Given the description of an element on the screen output the (x, y) to click on. 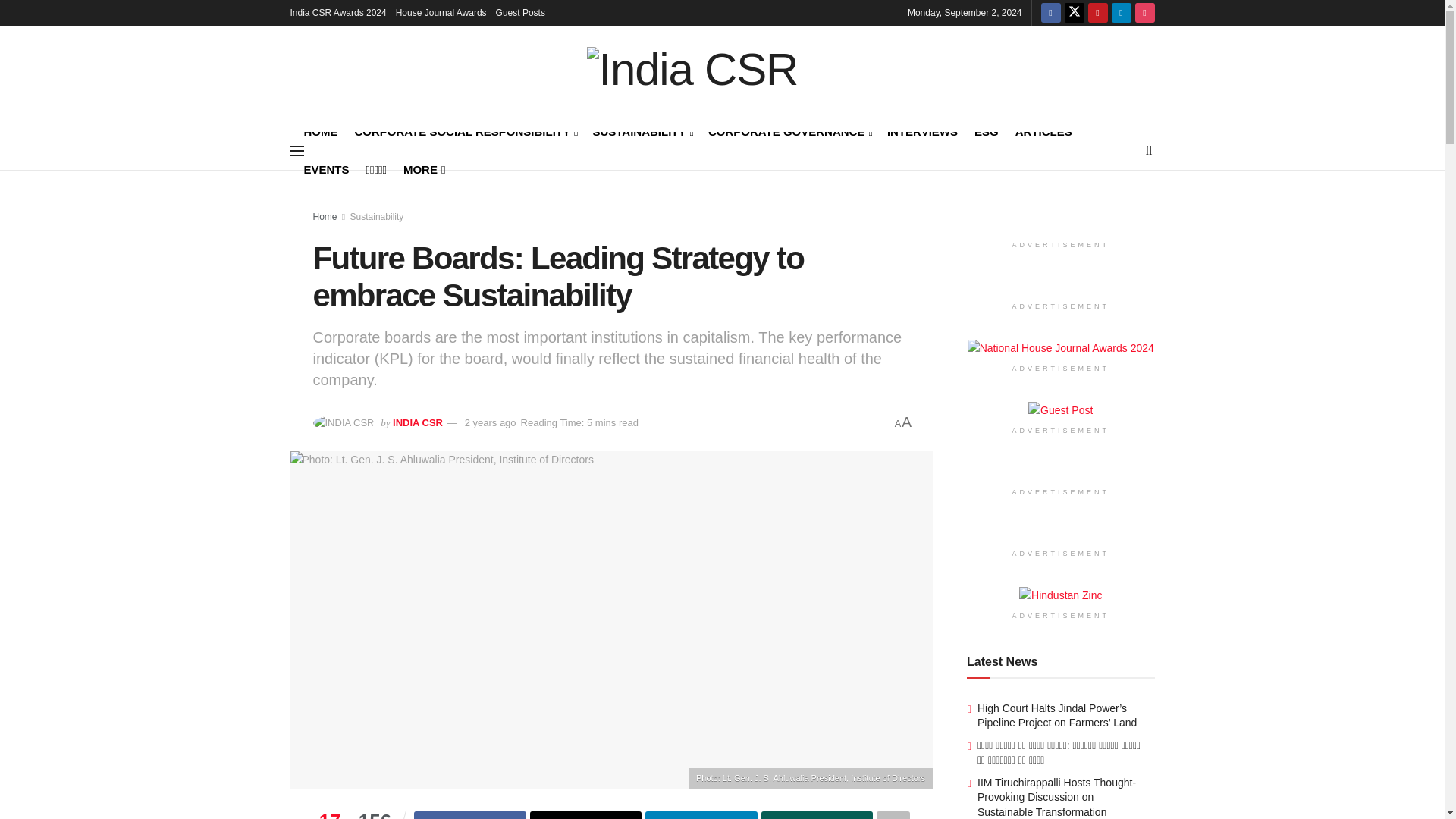
HOME (319, 131)
ESG (986, 131)
CORPORATE SOCIAL RESPONSIBILITY (465, 131)
Guest Posts (520, 12)
India CSR Awards 2024 (337, 12)
CORPORATE GOVERNANCE (788, 131)
INTERVIEWS (922, 131)
EVENTS (325, 169)
SUSTAINABILITY (641, 131)
